Given the description of an element on the screen output the (x, y) to click on. 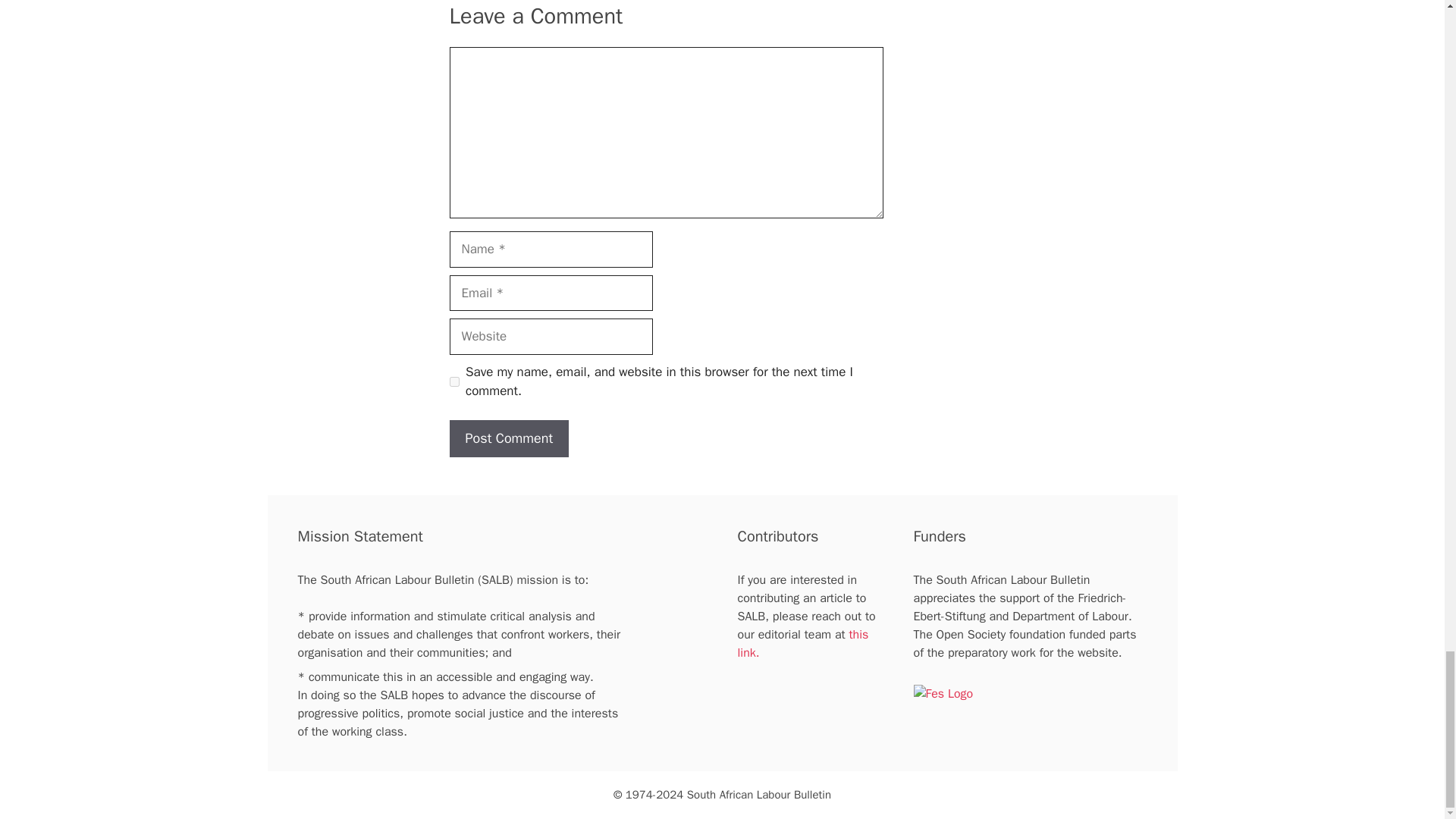
Post Comment (508, 438)
this link. (801, 643)
yes (453, 381)
Post Comment (508, 438)
